Given the description of an element on the screen output the (x, y) to click on. 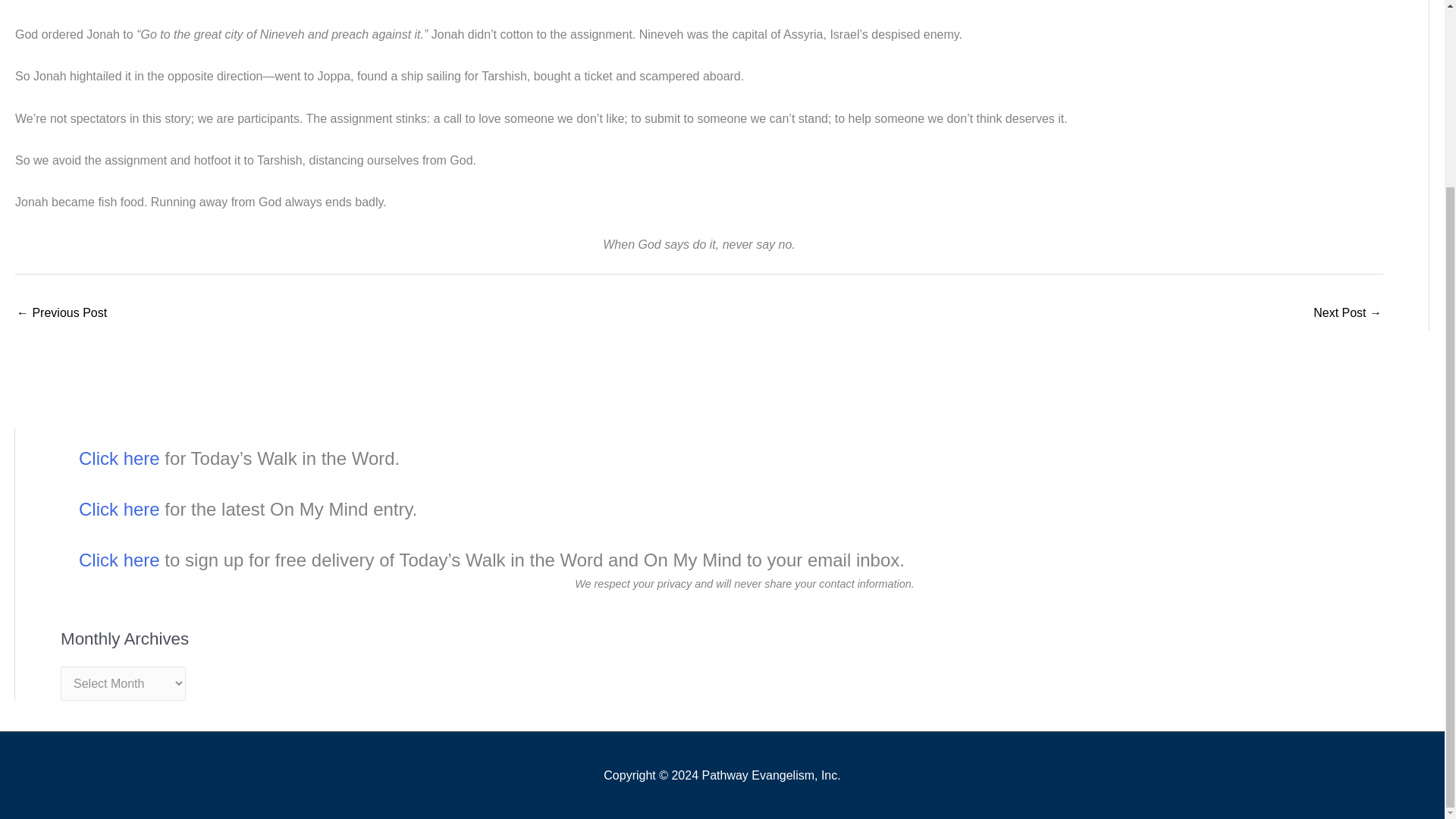
What Does God Want? (1347, 314)
Click here (119, 508)
Click here (119, 559)
Beware of Pride (61, 314)
Click here (119, 457)
